Given the description of an element on the screen output the (x, y) to click on. 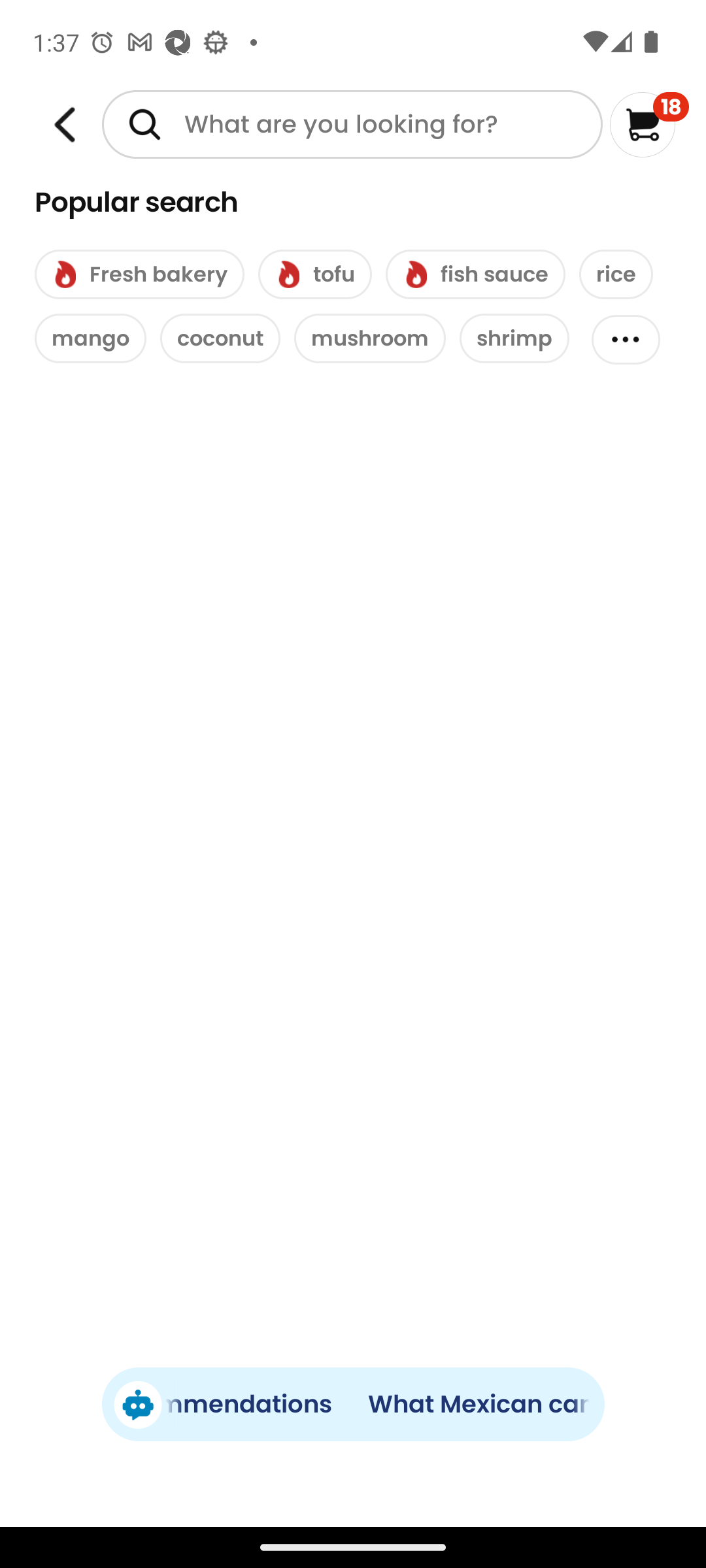
What are you looking for? (351, 124)
18 (649, 124)
Fresh bakery (139, 274)
tofu (315, 274)
fish sauce (475, 274)
rice (615, 274)
mango (90, 338)
coconut (220, 338)
mushroom (369, 338)
shrimp (514, 338)
